Given the description of an element on the screen output the (x, y) to click on. 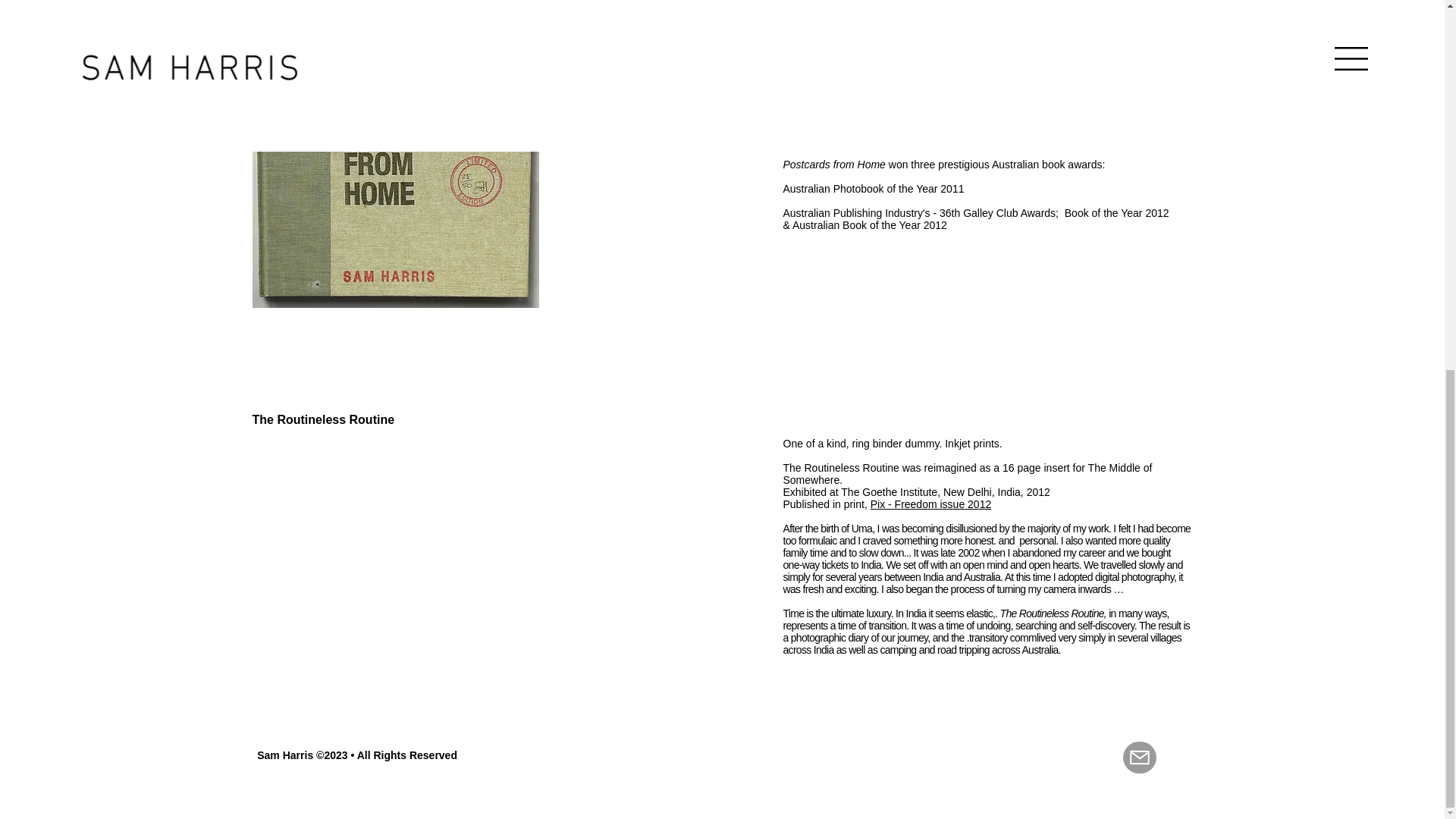
Pix - Freedom issue 2012 (930, 503)
